Given the description of an element on the screen output the (x, y) to click on. 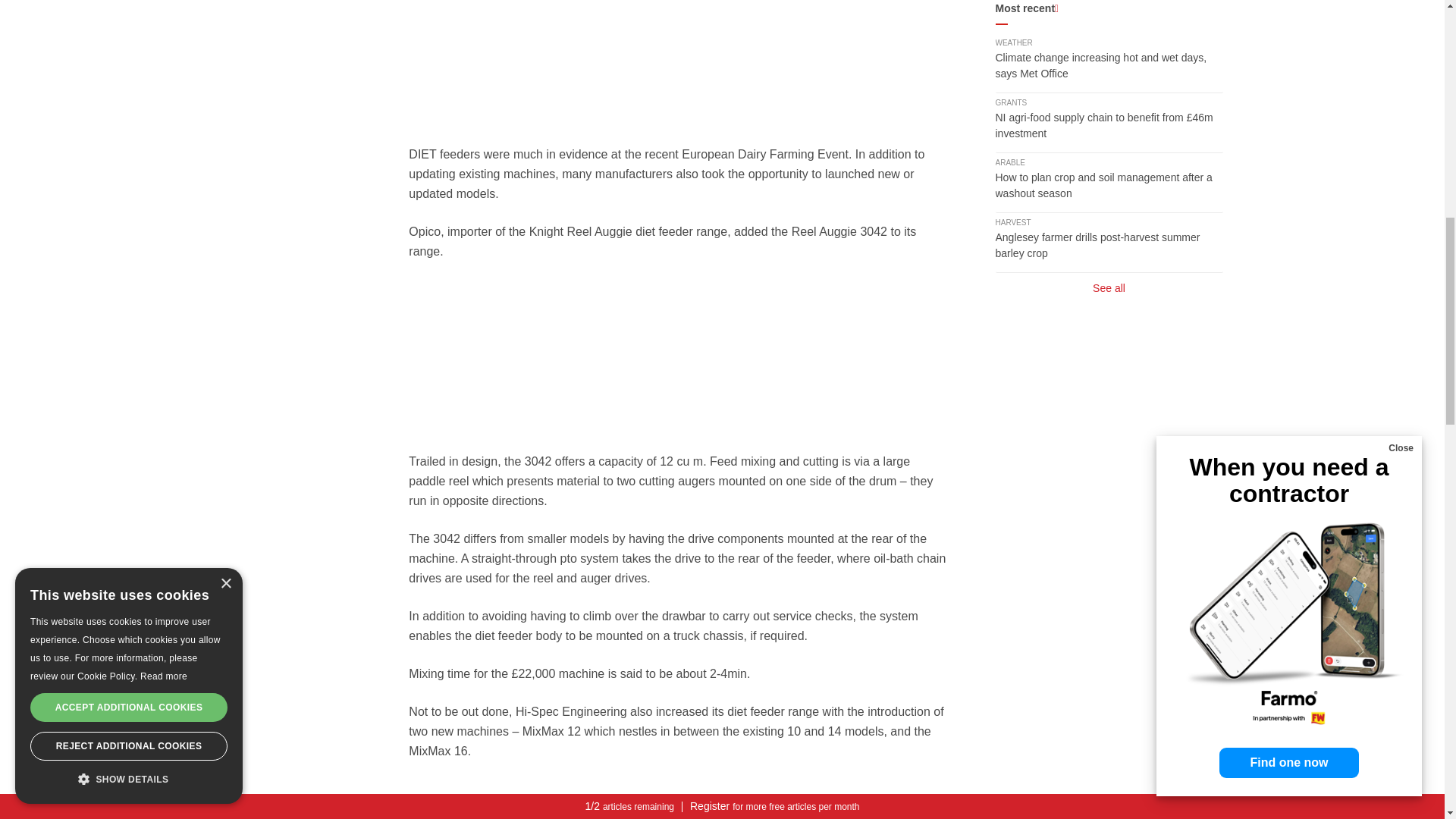
3rd party ad content (679, 356)
3rd party ad content (679, 54)
